Given the description of an element on the screen output the (x, y) to click on. 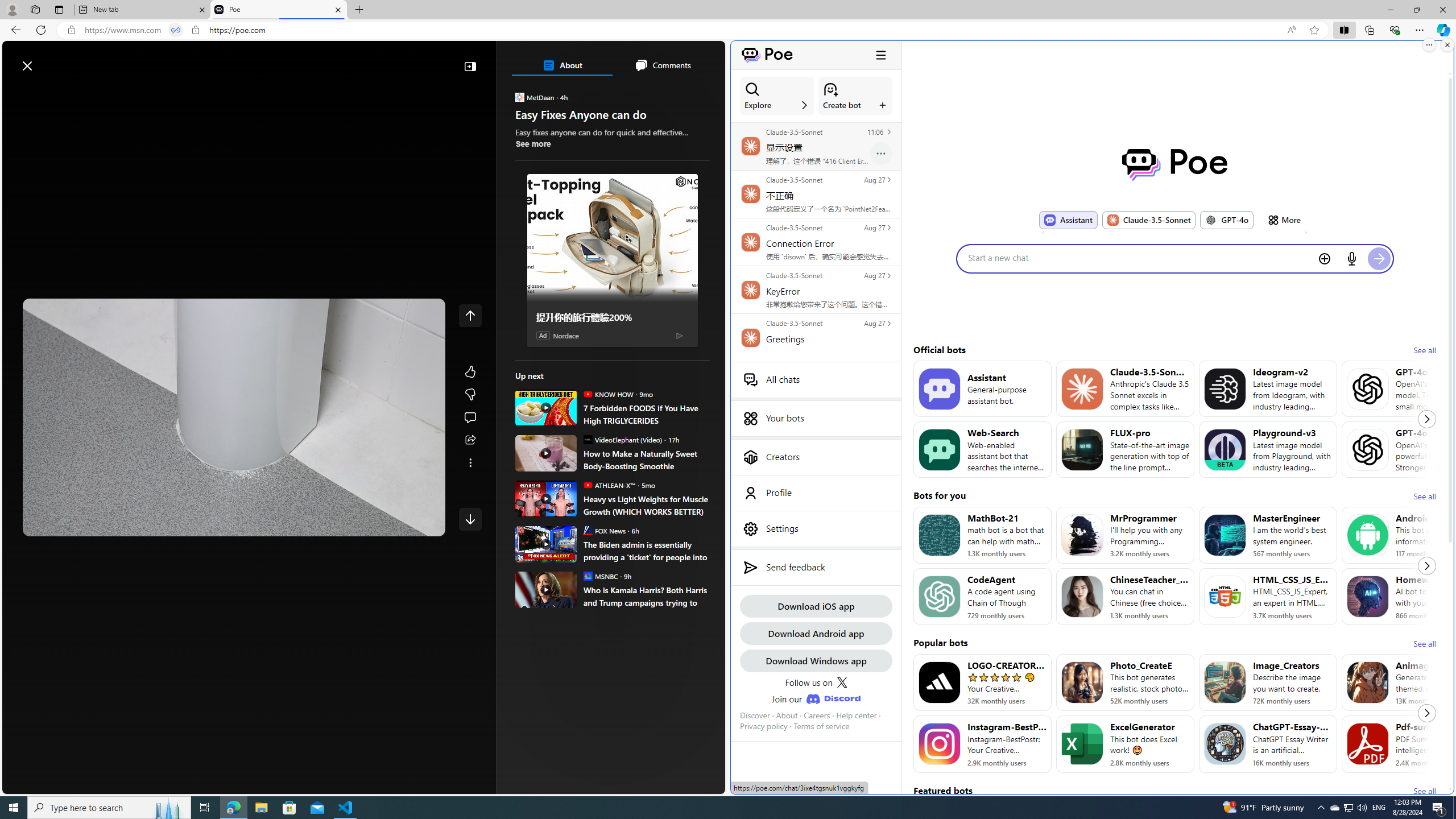
Download Android app (815, 633)
Explore (776, 95)
Bot image for ChineseTeacher_Lily (1081, 596)
Bot image for Assistant (938, 388)
Bot image for GPT-4o (1367, 449)
MetDaan (519, 96)
Bot image for ExcelGenerator (1081, 743)
